Given the description of an element on the screen output the (x, y) to click on. 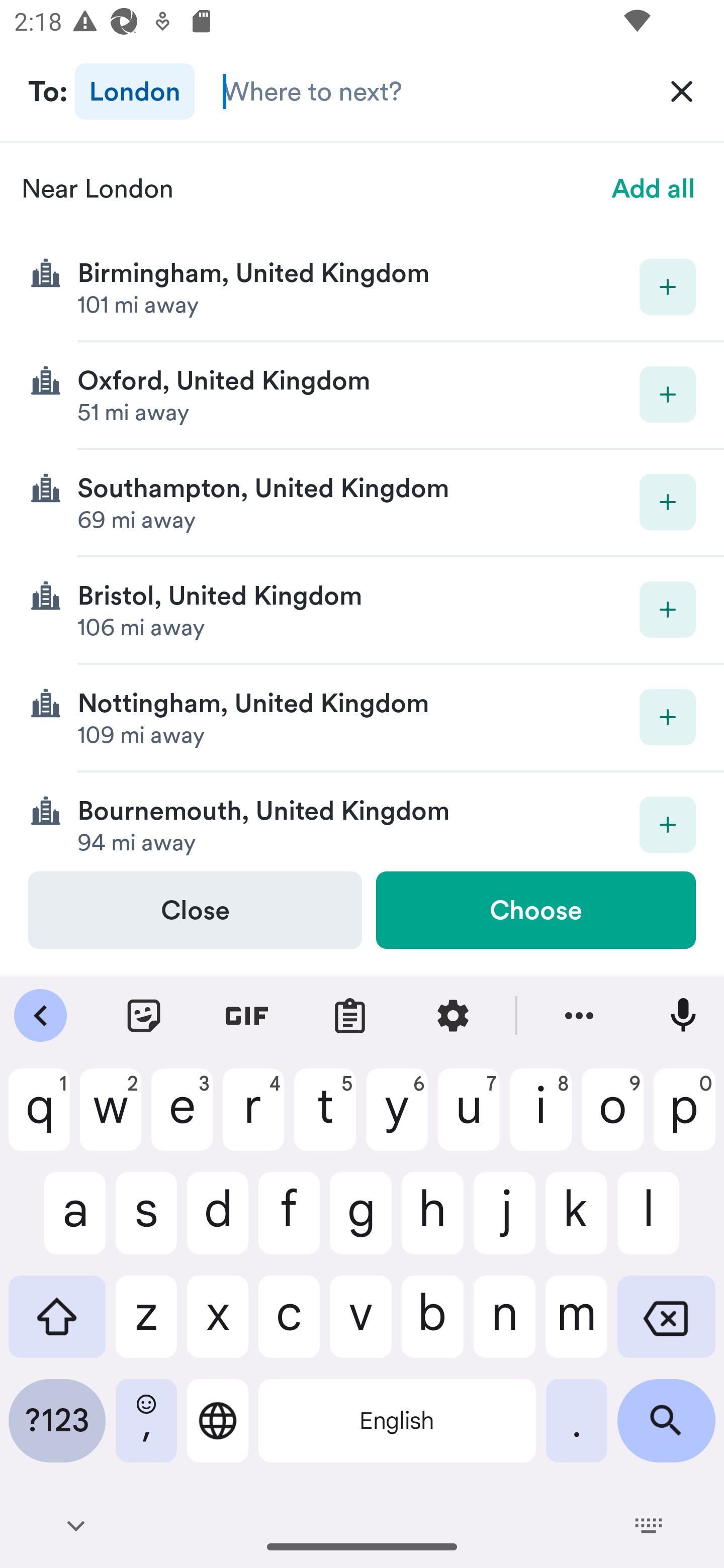
London (134, 90)
Clear All (681, 90)
Add all (653, 187)
Add destination (667, 286)
Add destination Oxford, United Kingdom 51 mi away (362, 395)
Add destination (667, 394)
Add destination (667, 501)
Add destination (667, 609)
Add destination (667, 716)
Add destination (667, 824)
Close (195, 909)
Choose (535, 909)
